Given the description of an element on the screen output the (x, y) to click on. 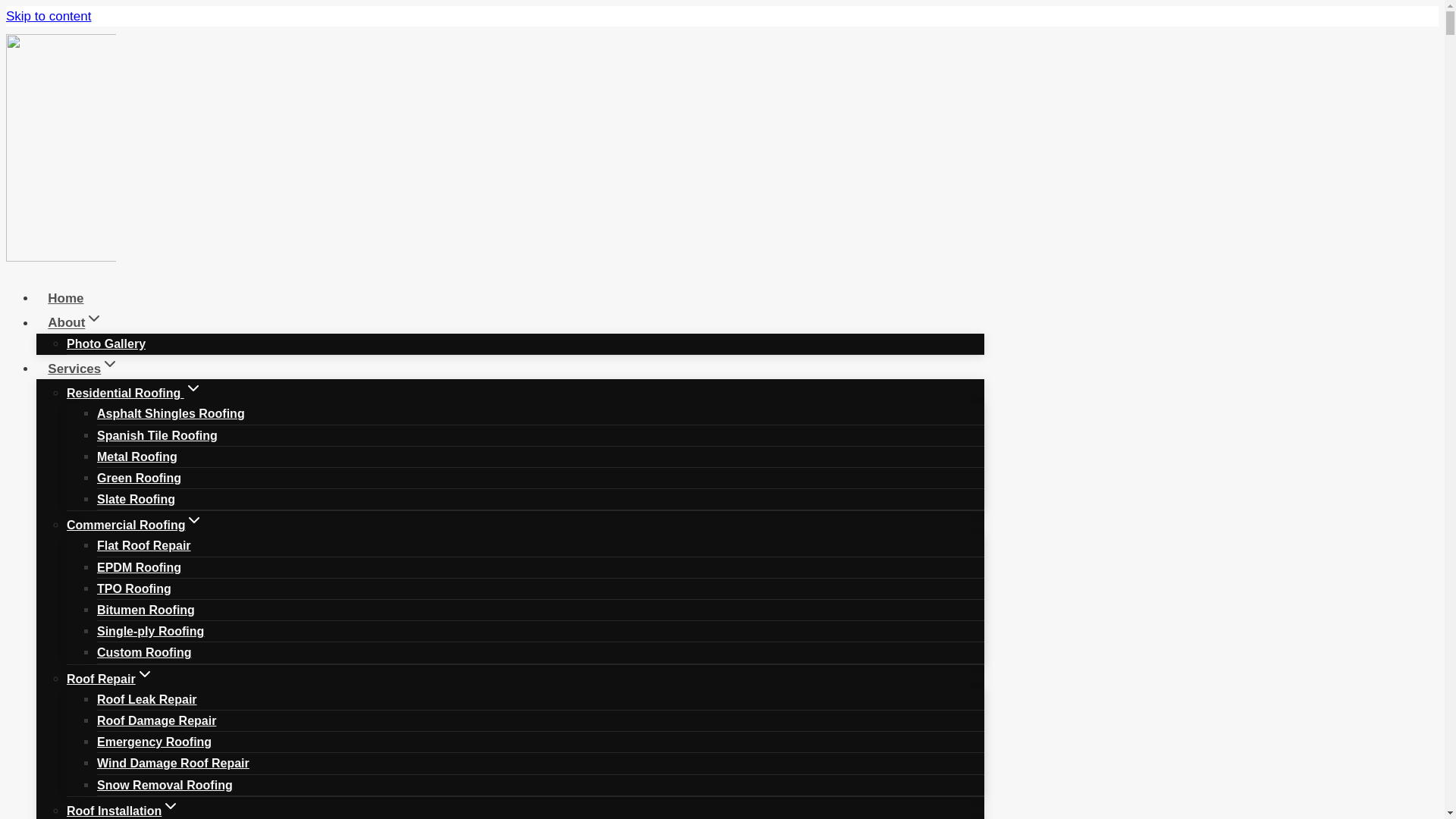
Spanish Tile Roofing (156, 435)
Single-ply Roofing (150, 631)
Bitumen Roofing (146, 609)
AboutExpand (75, 322)
Skip to content (47, 16)
Green Roofing (138, 477)
Snow Removal Roofing (164, 784)
Residential Roofing Expand (134, 392)
ServicesExpand (83, 368)
Flat Roof Repair (143, 545)
Skylight Installation (154, 816)
Metal Roofing (137, 456)
Roof Leak Repair (146, 699)
Home (66, 297)
EPDM Roofing (138, 567)
